Given the description of an element on the screen output the (x, y) to click on. 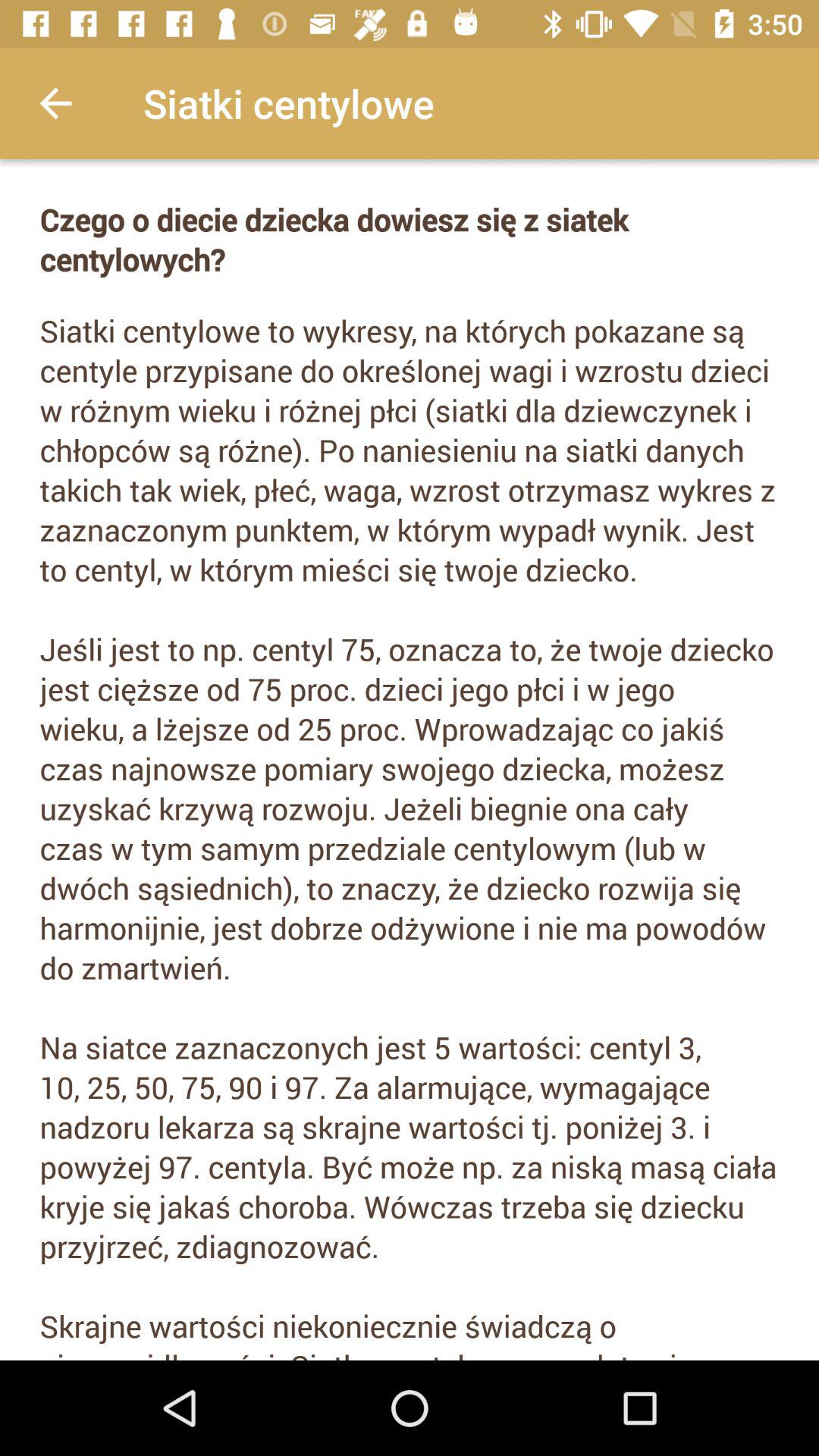
select the icon next to the siatki centylowe icon (55, 103)
